Given the description of an element on the screen output the (x, y) to click on. 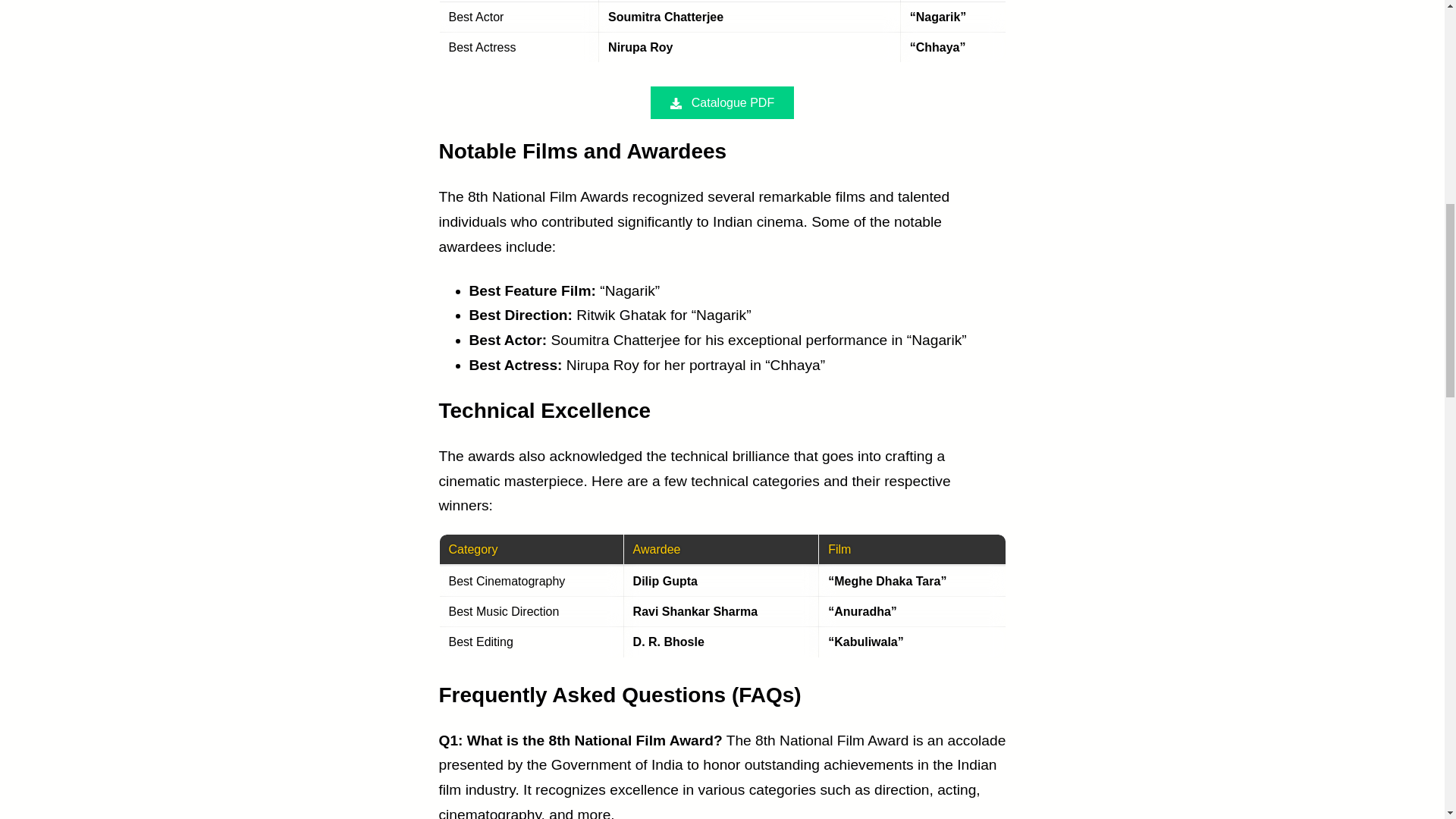
Catalogue PDF (721, 101)
